Given the description of an element on the screen output the (x, y) to click on. 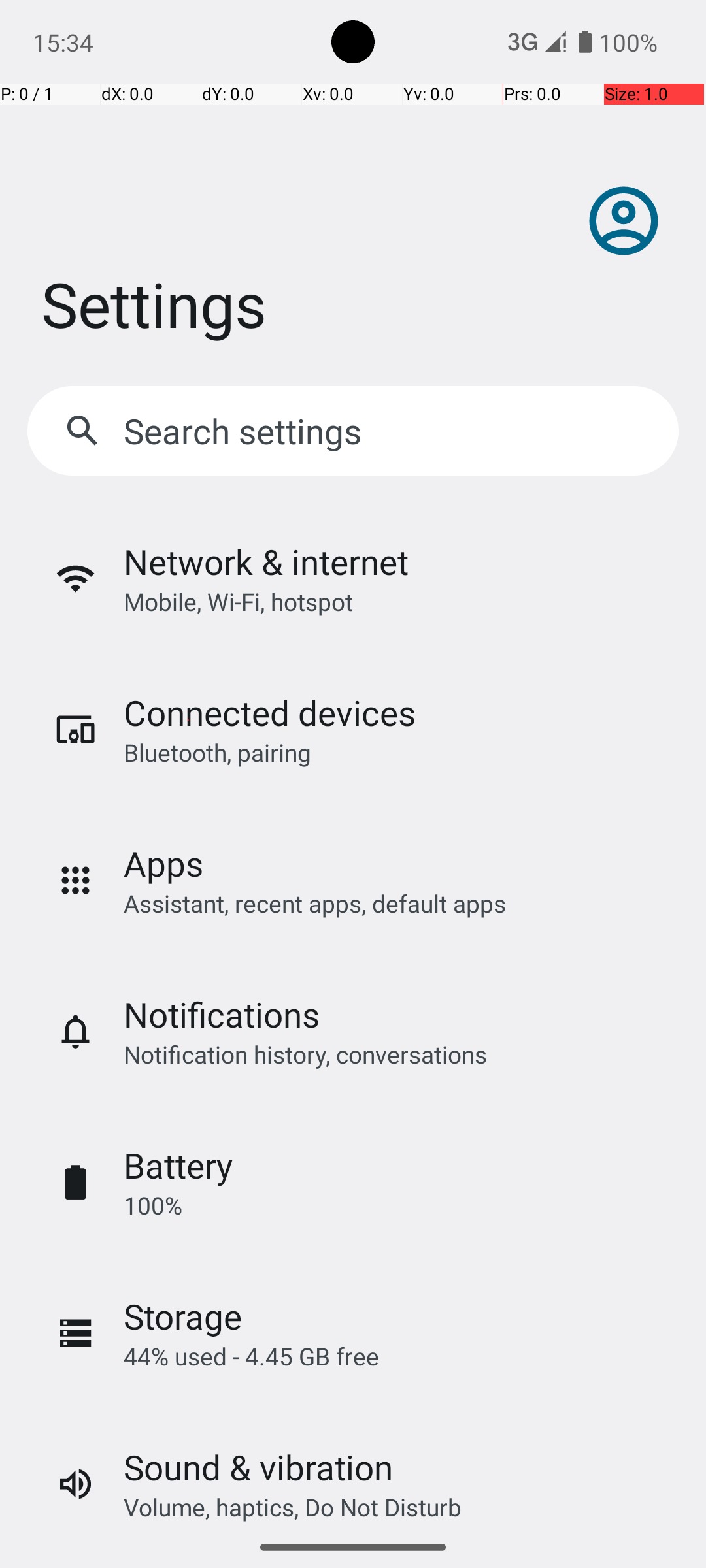
Profile picture, double tap to open Google Account Element type: android.widget.ImageView (623, 220)
Search settings Element type: android.widget.TextView (245, 430)
Network & internet Element type: android.widget.TextView (265, 561)
Mobile, Wi‑Fi, hotspot Element type: android.widget.TextView (238, 601)
Connected devices Element type: android.widget.TextView (269, 712)
Bluetooth, pairing Element type: android.widget.TextView (217, 751)
Apps Element type: android.widget.TextView (163, 863)
Assistant, recent apps, default apps Element type: android.widget.TextView (314, 902)
Notification history, conversations Element type: android.widget.TextView (305, 1053)
Battery Element type: android.widget.TextView (178, 1165)
100% Element type: android.widget.TextView (152, 1204)
Storage Element type: android.widget.TextView (182, 1315)
44% used - 4.45 GB free Element type: android.widget.TextView (251, 1355)
Sound & vibration Element type: android.widget.TextView (257, 1466)
Volume, haptics, Do Not Disturb Element type: android.widget.TextView (292, 1506)
